Given the description of an element on the screen output the (x, y) to click on. 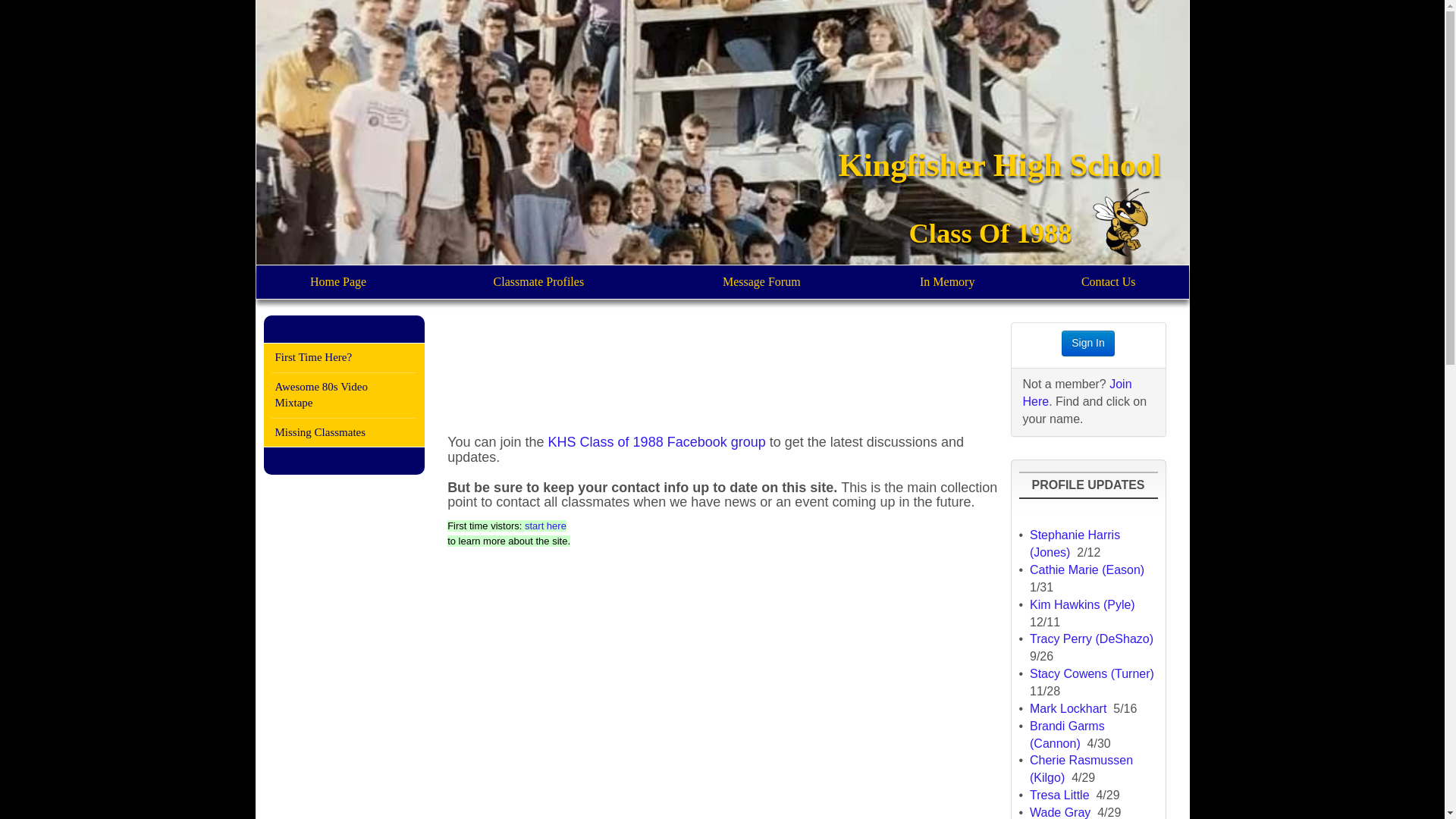
First Time Here? (343, 357)
Contact Us (1108, 281)
In Memory (946, 281)
start here (545, 525)
KHS Class of 1988 Facebook group (656, 441)
Awesome 80s Video Mixtape (343, 395)
Home Page (338, 281)
Mark Lockhart (1067, 707)
Classmate Profiles (539, 281)
Missing Classmates (343, 432)
